Given the description of an element on the screen output the (x, y) to click on. 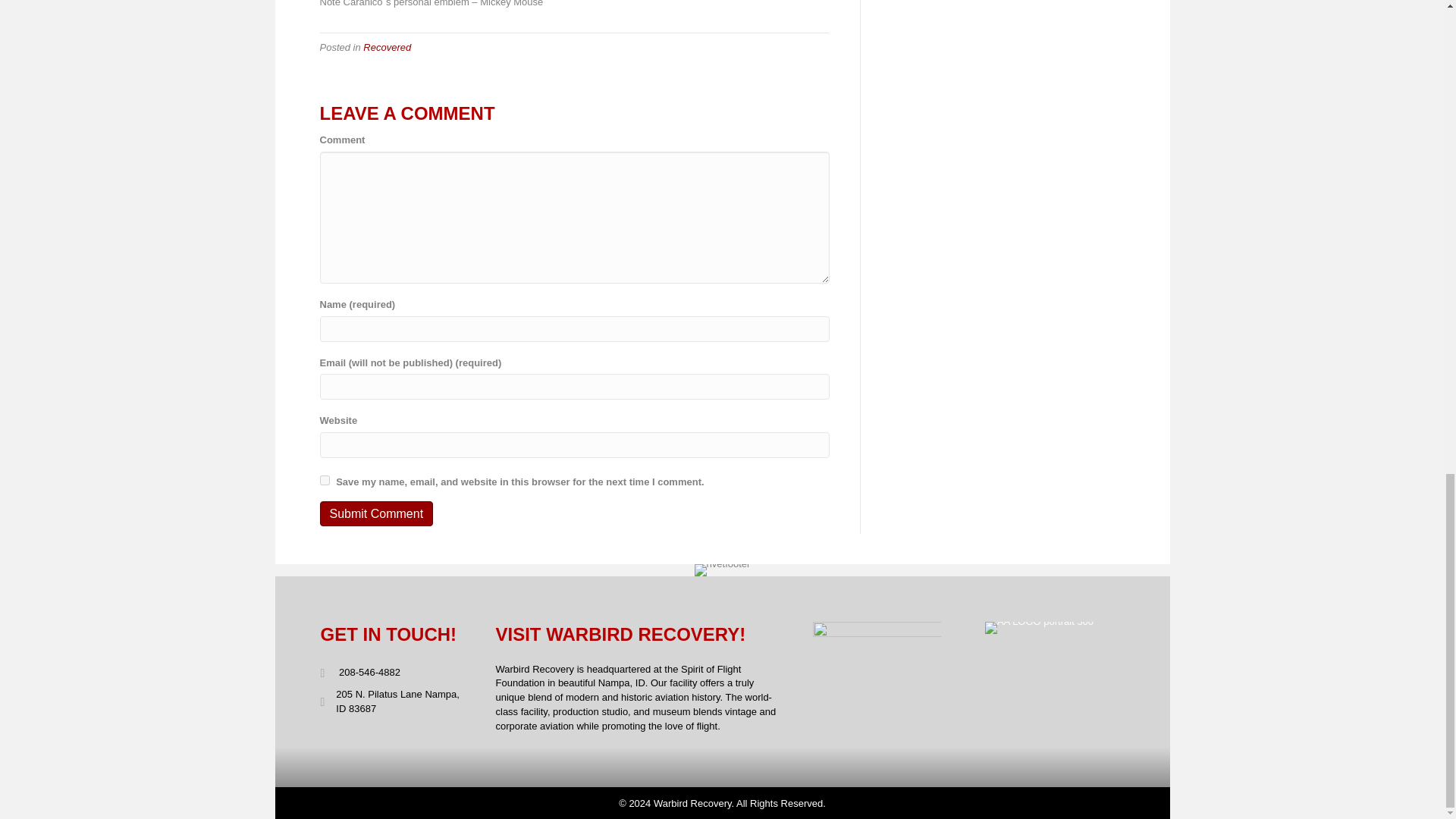
205 N. Pilatus Lane Nampa, ID 83687 (400, 701)
Recovered (386, 47)
rivetfooter (722, 570)
Submit Comment (376, 513)
yes (325, 480)
 208-546-4882 (368, 672)
Submit Comment (376, 513)
AA LOGO portrait 300 (1039, 627)
